Given the description of an element on the screen output the (x, y) to click on. 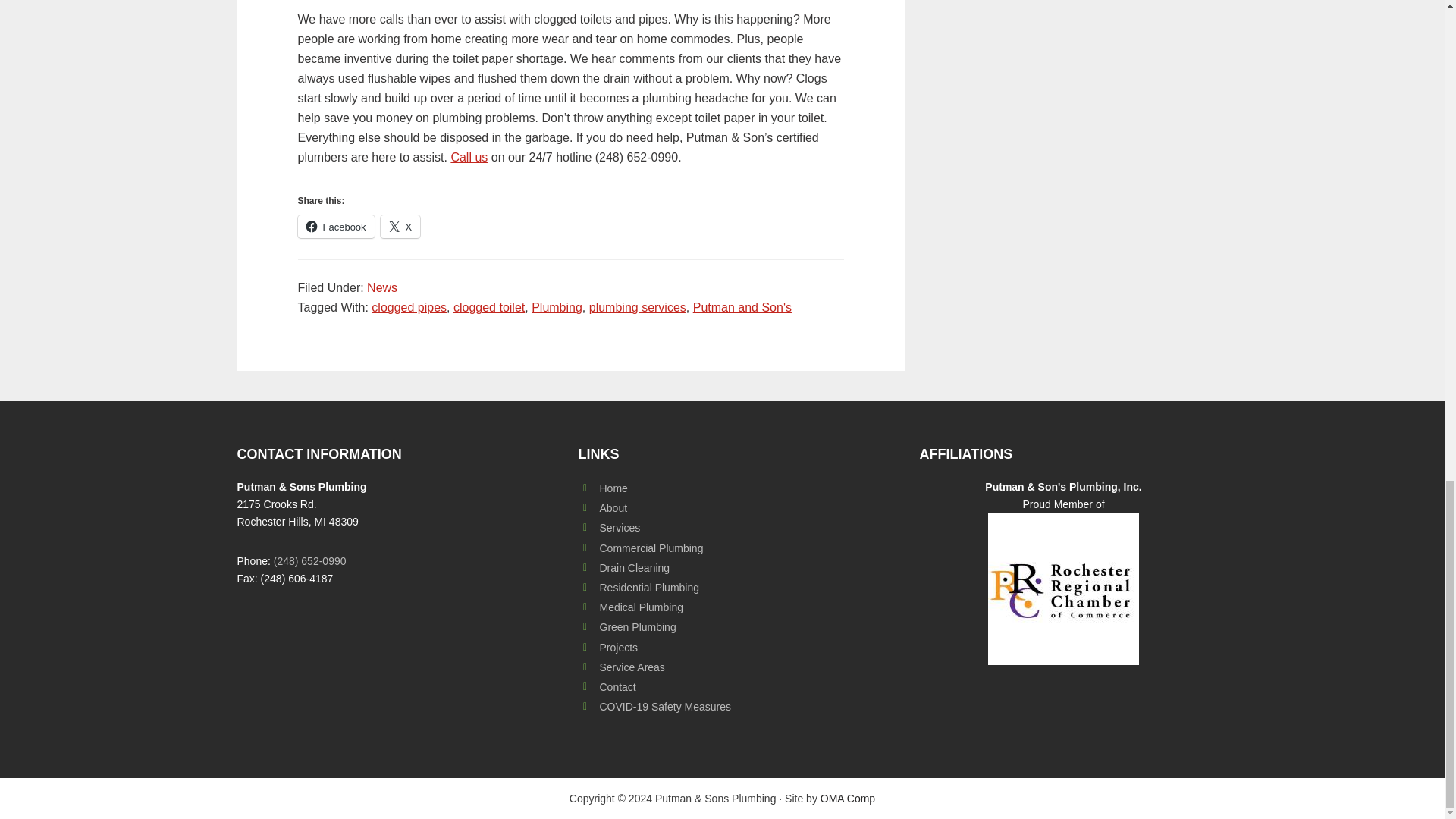
Rochester Regional Chamber of Commerce  (1063, 589)
Click to share on X (400, 226)
Click to share on Facebook (335, 226)
